Given the description of an element on the screen output the (x, y) to click on. 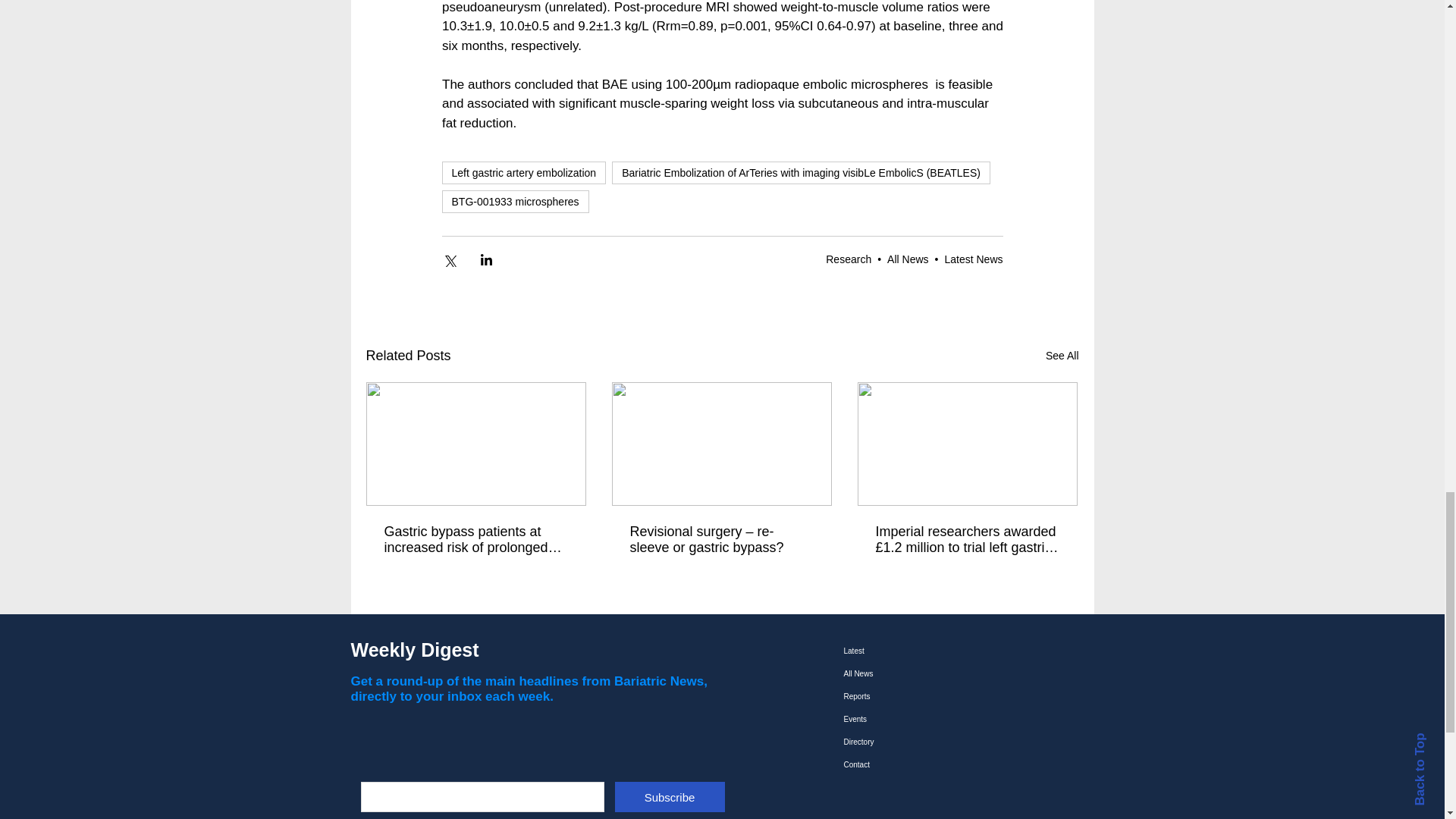
See All (1061, 355)
Left gastric artery embolization (523, 172)
All News (907, 259)
Research (847, 259)
Subscribe (668, 797)
Latest News (973, 259)
BTG-001933 microspheres (514, 201)
